Given the description of an element on the screen output the (x, y) to click on. 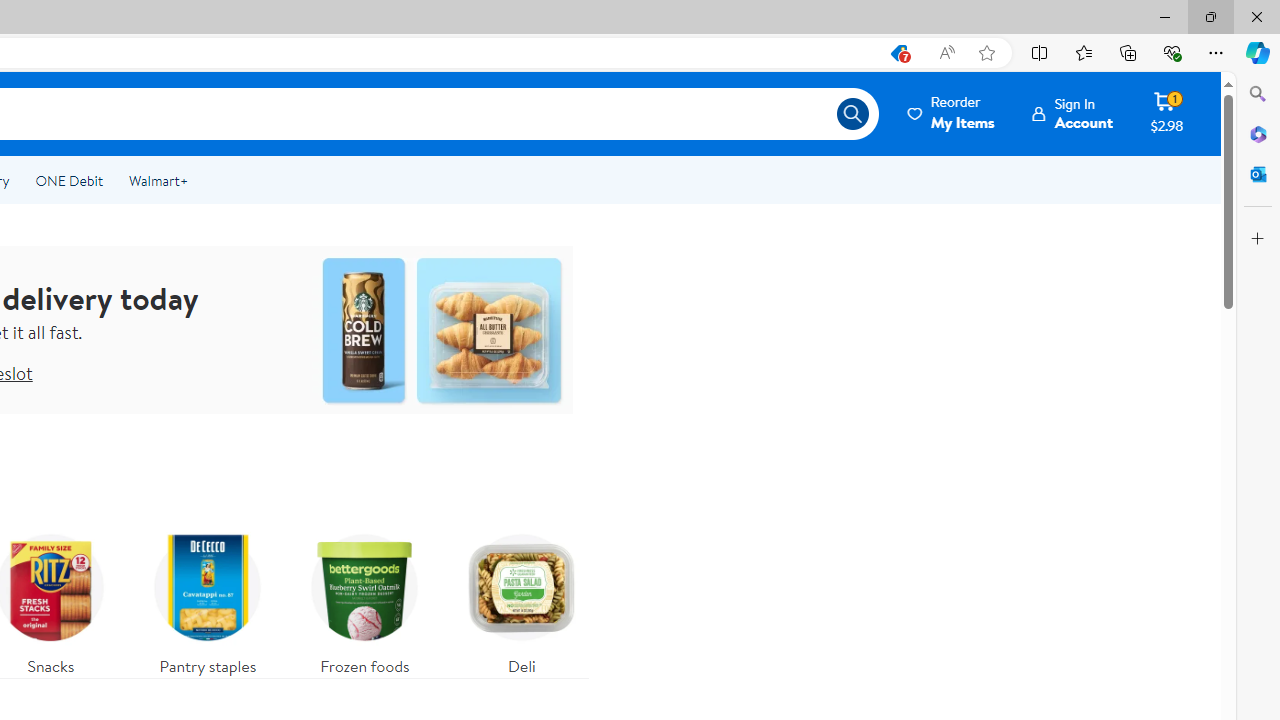
Cart contains 1 item Total Amount $2.98 (1166, 113)
ONE Debit (68, 180)
This site has coupons! Shopping in Microsoft Edge, 7 (898, 53)
ReorderMy Items (952, 113)
Frozen foods (365, 599)
Sign In Account (1072, 113)
Walmart+ (158, 180)
ONE Debit (68, 180)
Deli (521, 599)
